Given the description of an element on the screen output the (x, y) to click on. 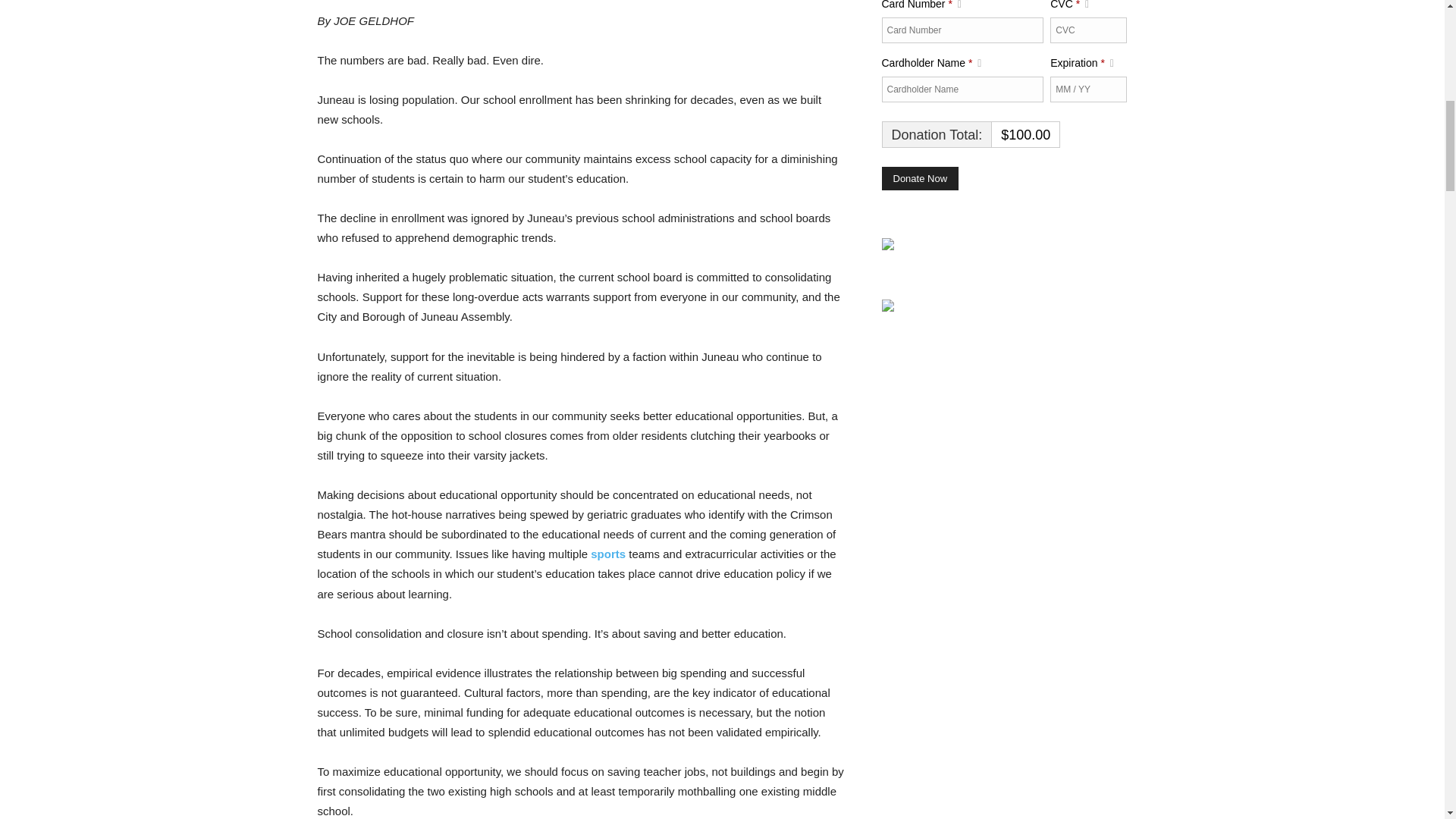
Donate Now (919, 178)
